Given the description of an element on the screen output the (x, y) to click on. 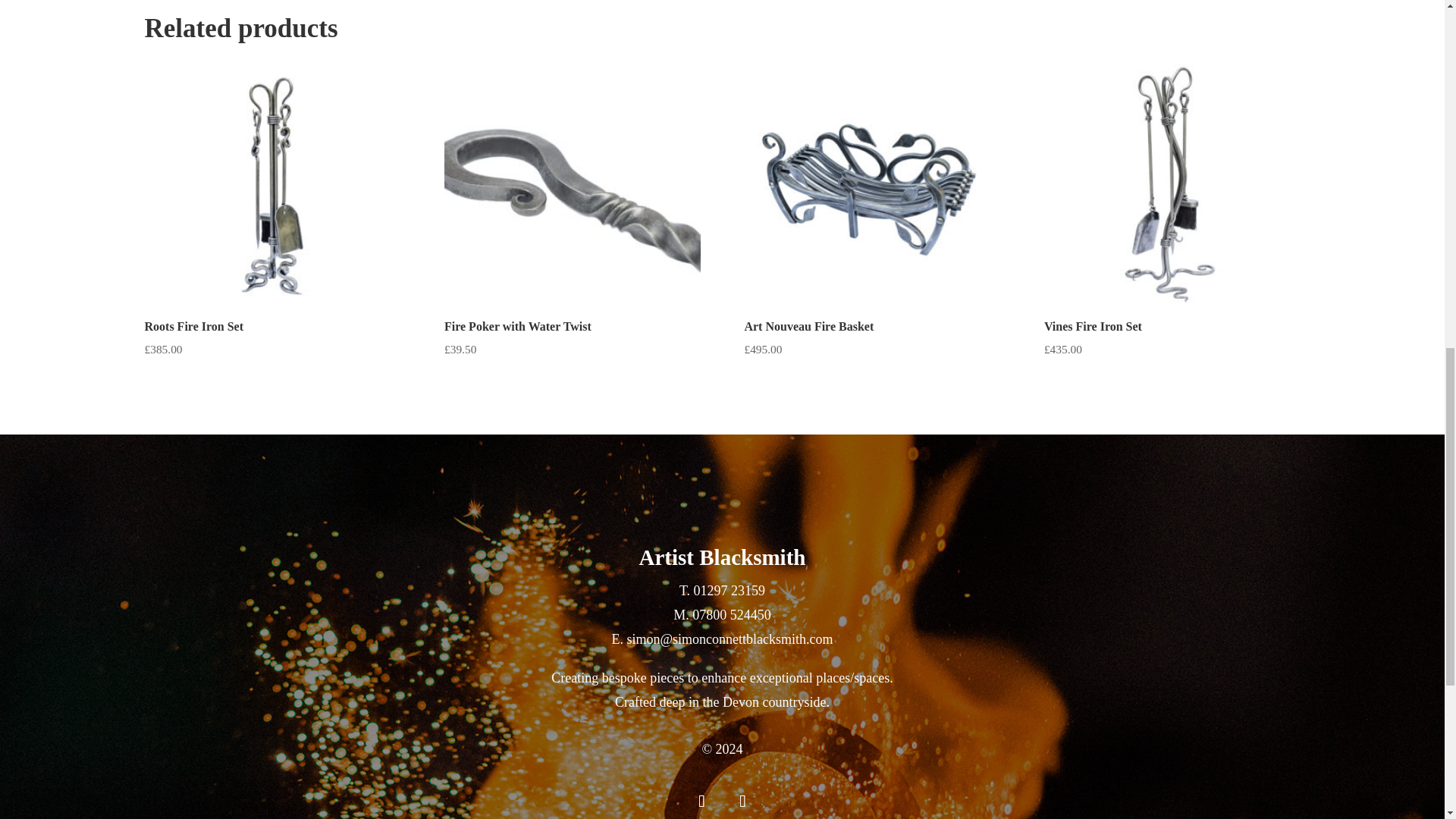
Follow on X (701, 801)
Follow on Instagram (742, 801)
